Given the description of an element on the screen output the (x, y) to click on. 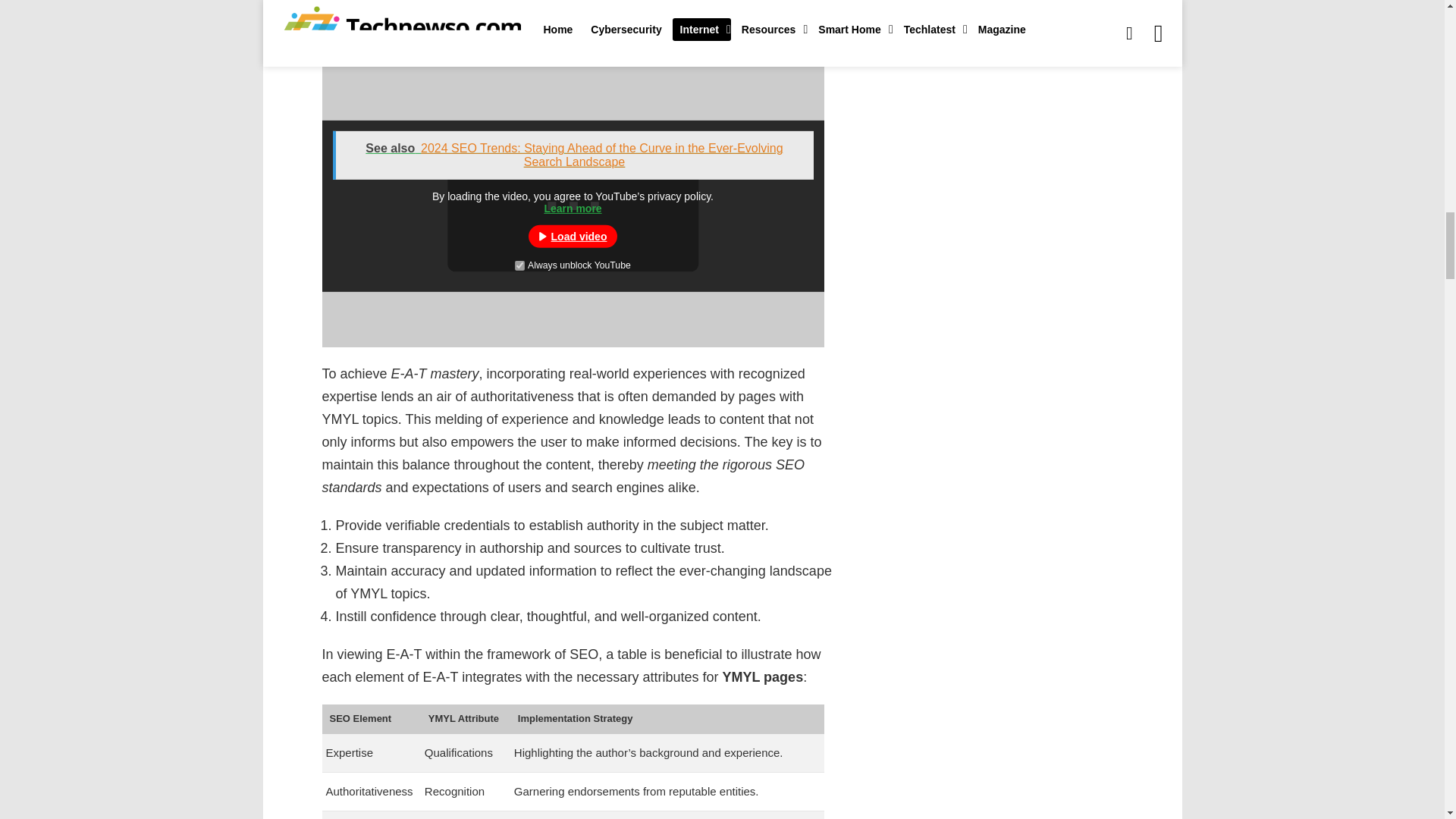
Learn more (572, 208)
1 (519, 266)
Load video (572, 236)
